Given the description of an element on the screen output the (x, y) to click on. 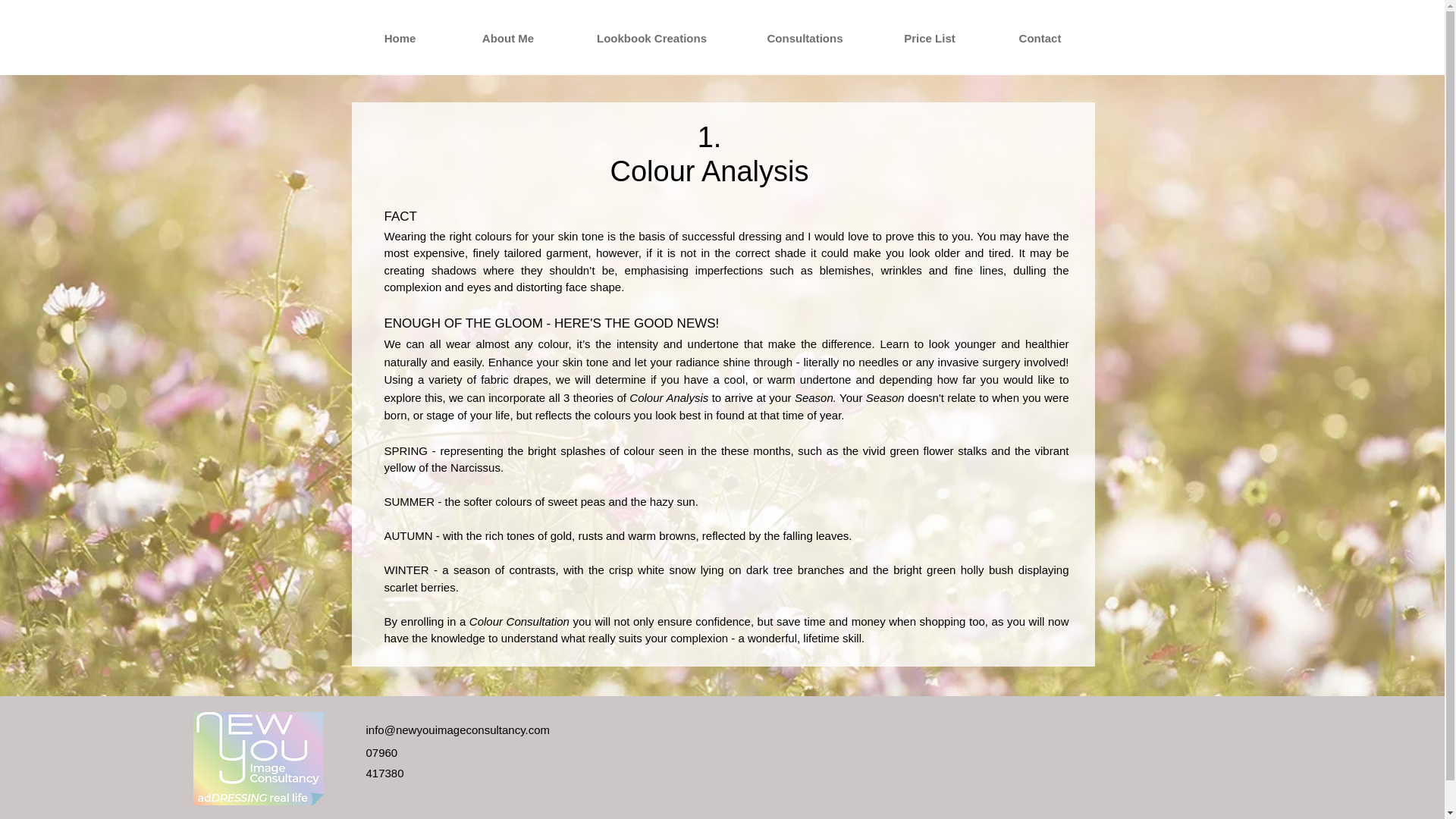
Lookbook Creations (651, 38)
ewyouimageconsultancy.com (475, 729)
Home (399, 38)
Price List (930, 38)
Contact (1039, 38)
About Me (507, 38)
